Given the description of an element on the screen output the (x, y) to click on. 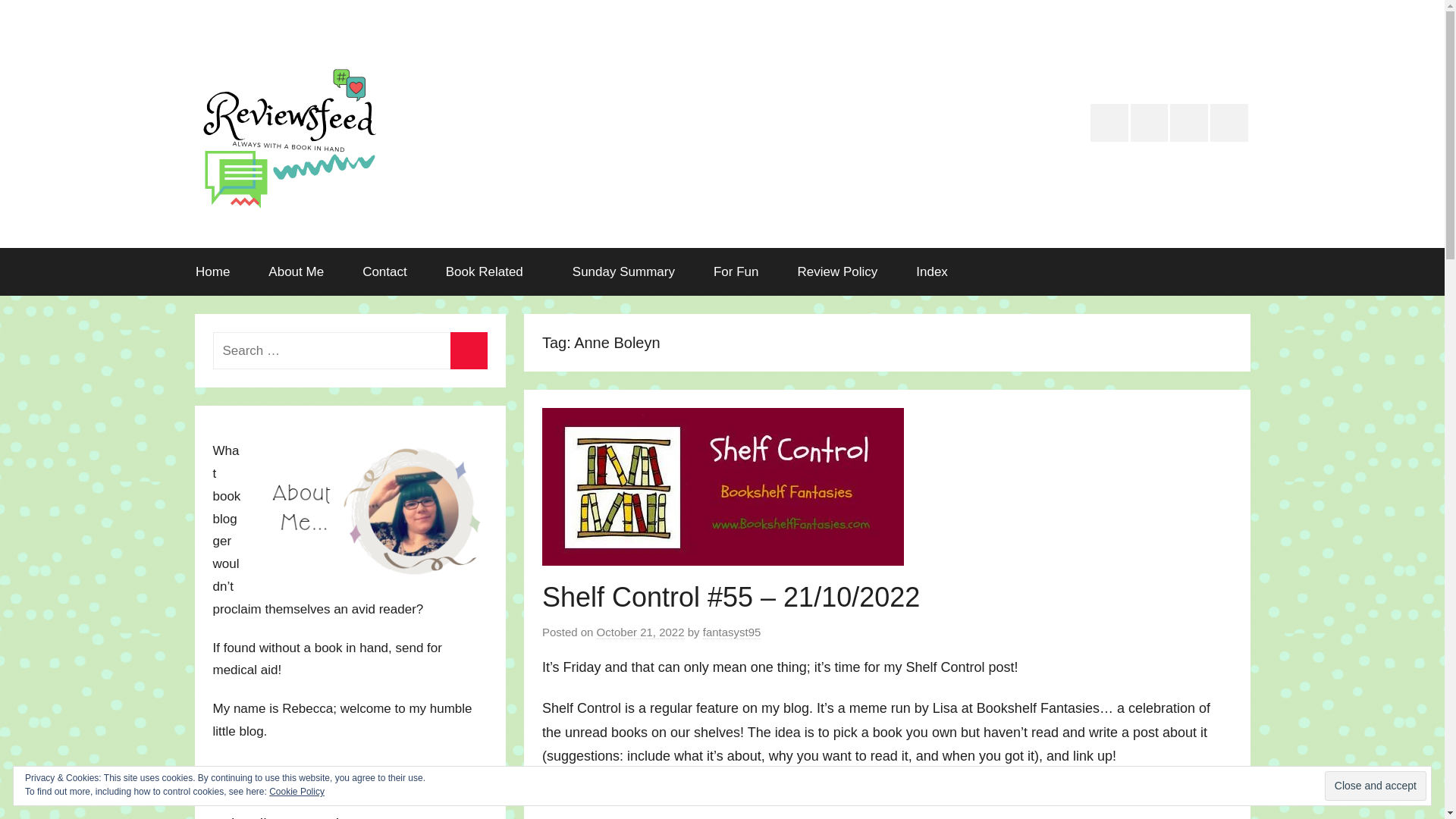
For Fun (735, 271)
Sunday Summary (623, 271)
Contact (384, 271)
fantasyst95 (732, 632)
Search (468, 350)
Book Related (489, 271)
Home (212, 271)
Index (932, 271)
Close and accept (1375, 785)
View all posts by fantasyst95 (732, 632)
October 21, 2022 (640, 632)
Facebook (1228, 122)
Twitter (1109, 122)
Search for: (349, 350)
About Me (295, 271)
